Given the description of an element on the screen output the (x, y) to click on. 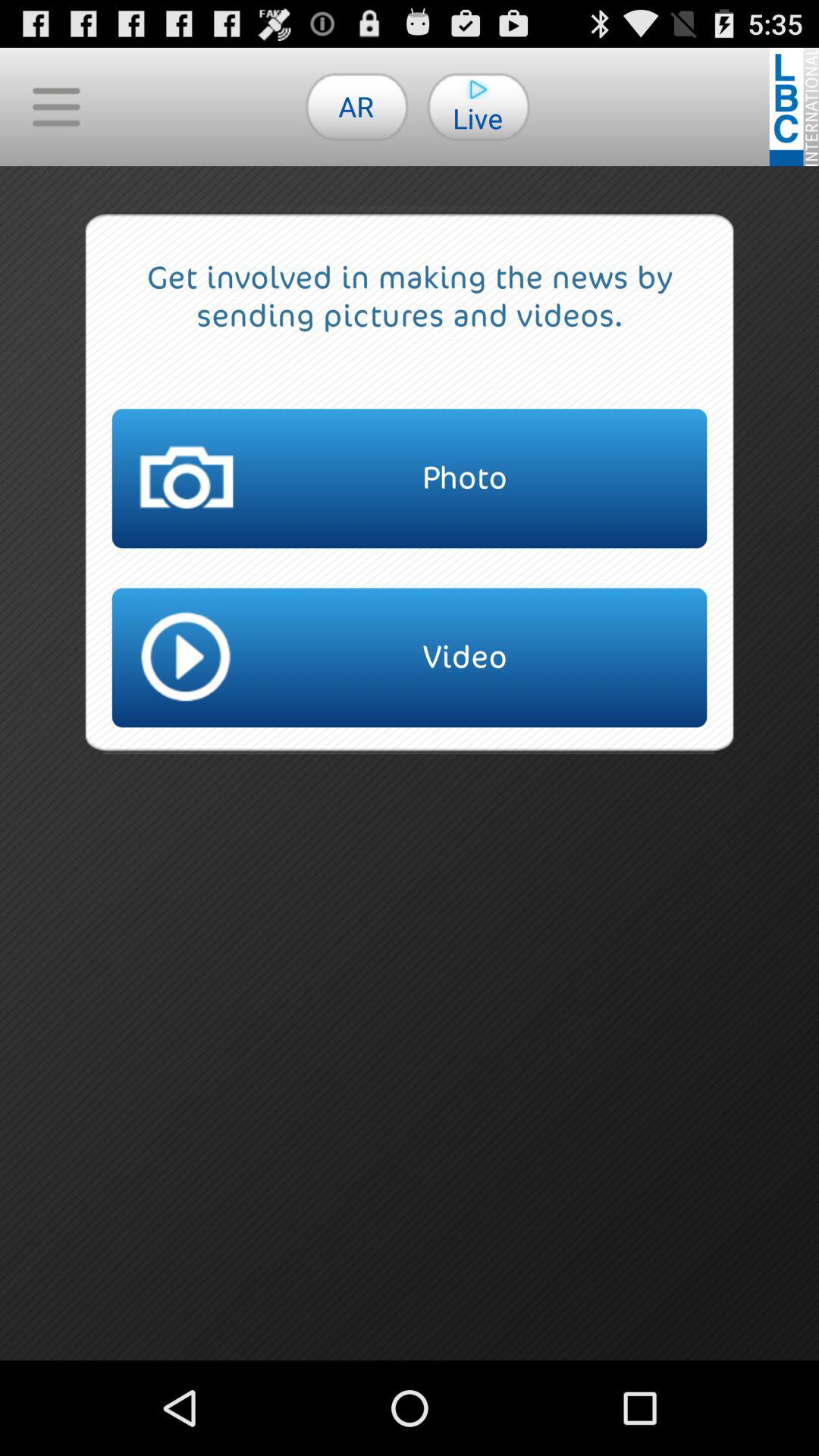
jump to the ar icon (356, 106)
